Given the description of an element on the screen output the (x, y) to click on. 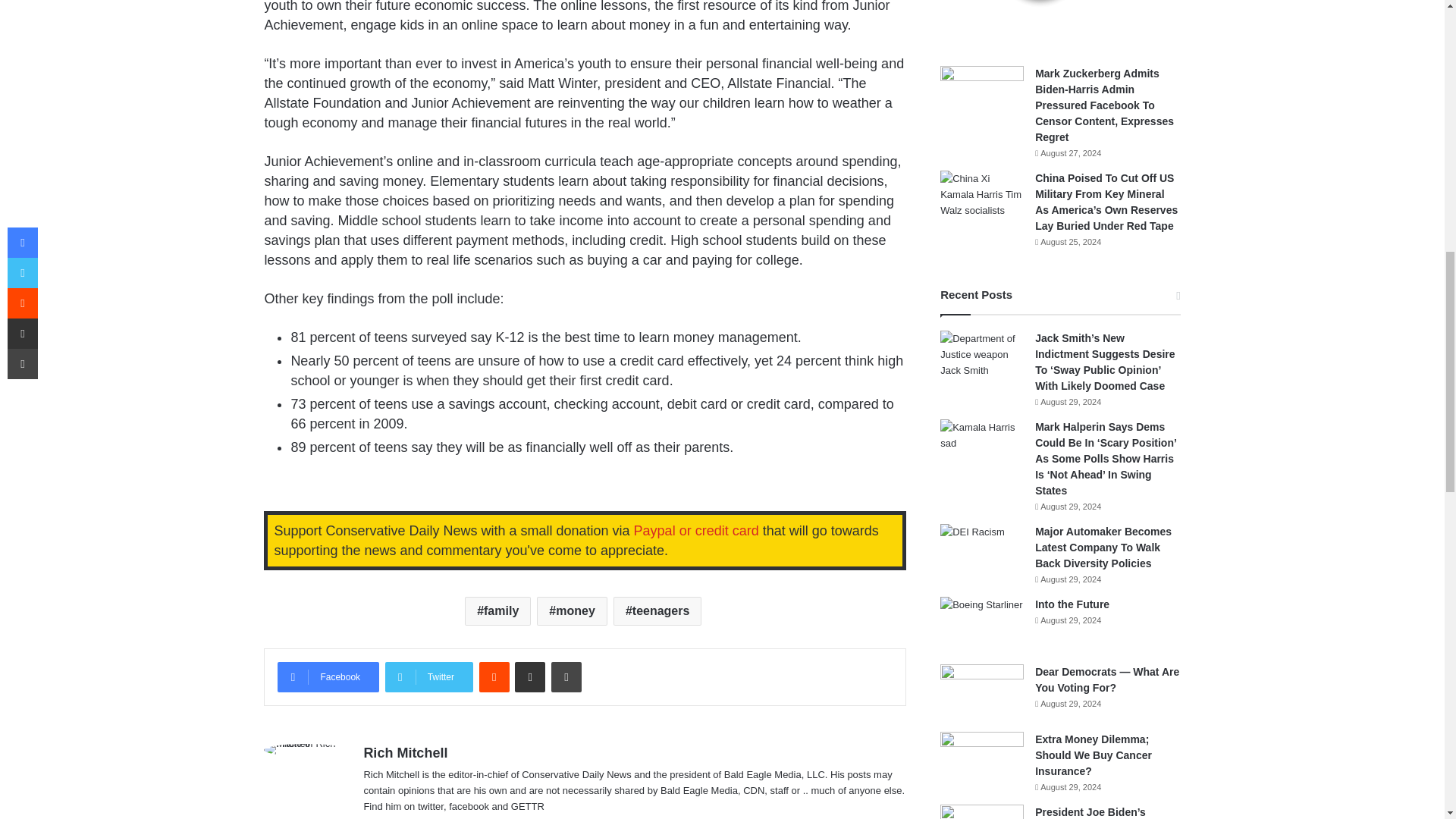
Facebook (328, 676)
Reddit (494, 676)
Share via Email (529, 676)
Twitter (429, 676)
